Given the description of an element on the screen output the (x, y) to click on. 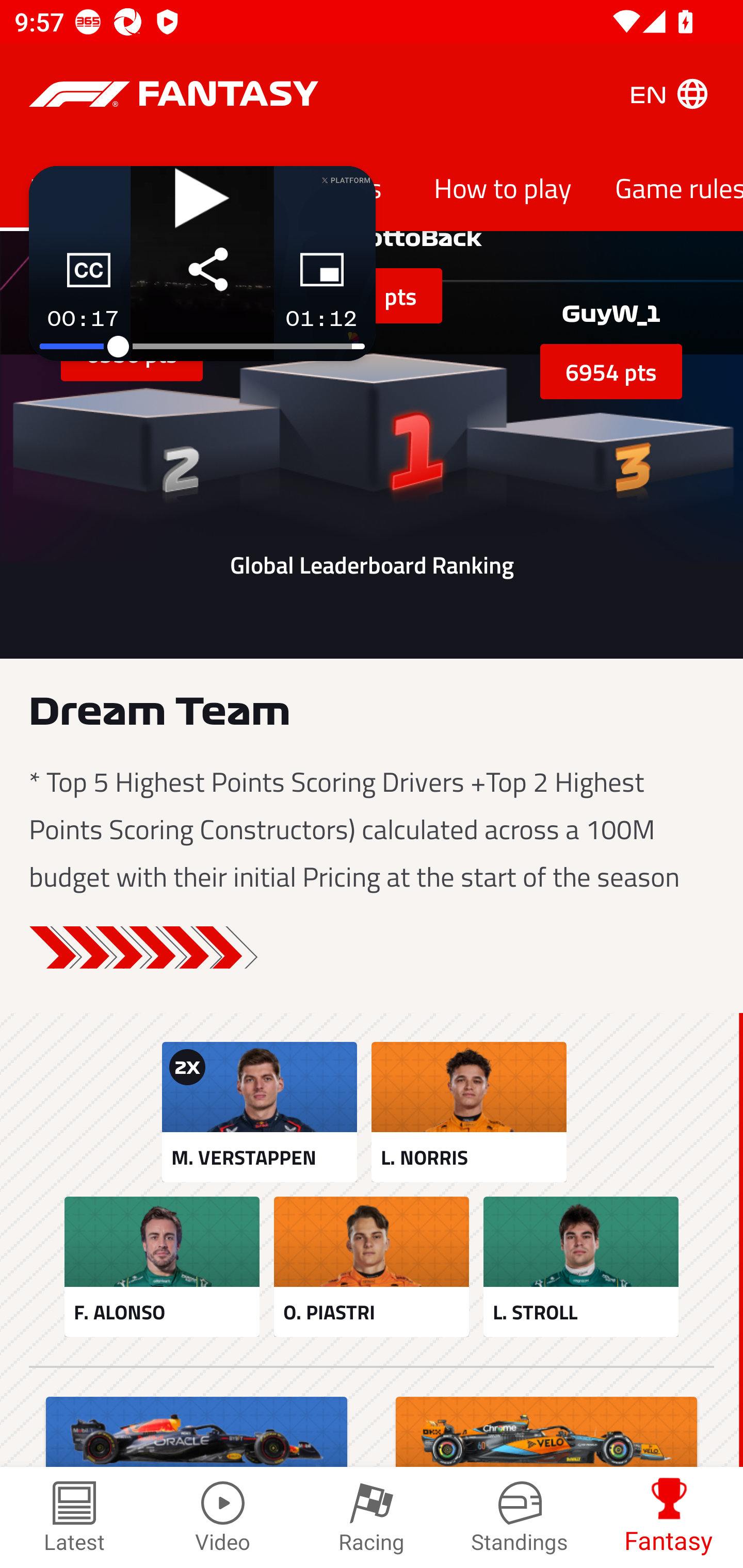
How to play (502, 187)
Game rules (668, 187)
2X M. VERSTAPPEN (259, 1111)
L. NORRIS (468, 1111)
F. ALONSO (161, 1266)
O. PIASTRI (371, 1266)
L. STROLL (580, 1266)
Latest (74, 1517)
Video (222, 1517)
Racing (371, 1517)
Standings (519, 1517)
